Given the description of an element on the screen output the (x, y) to click on. 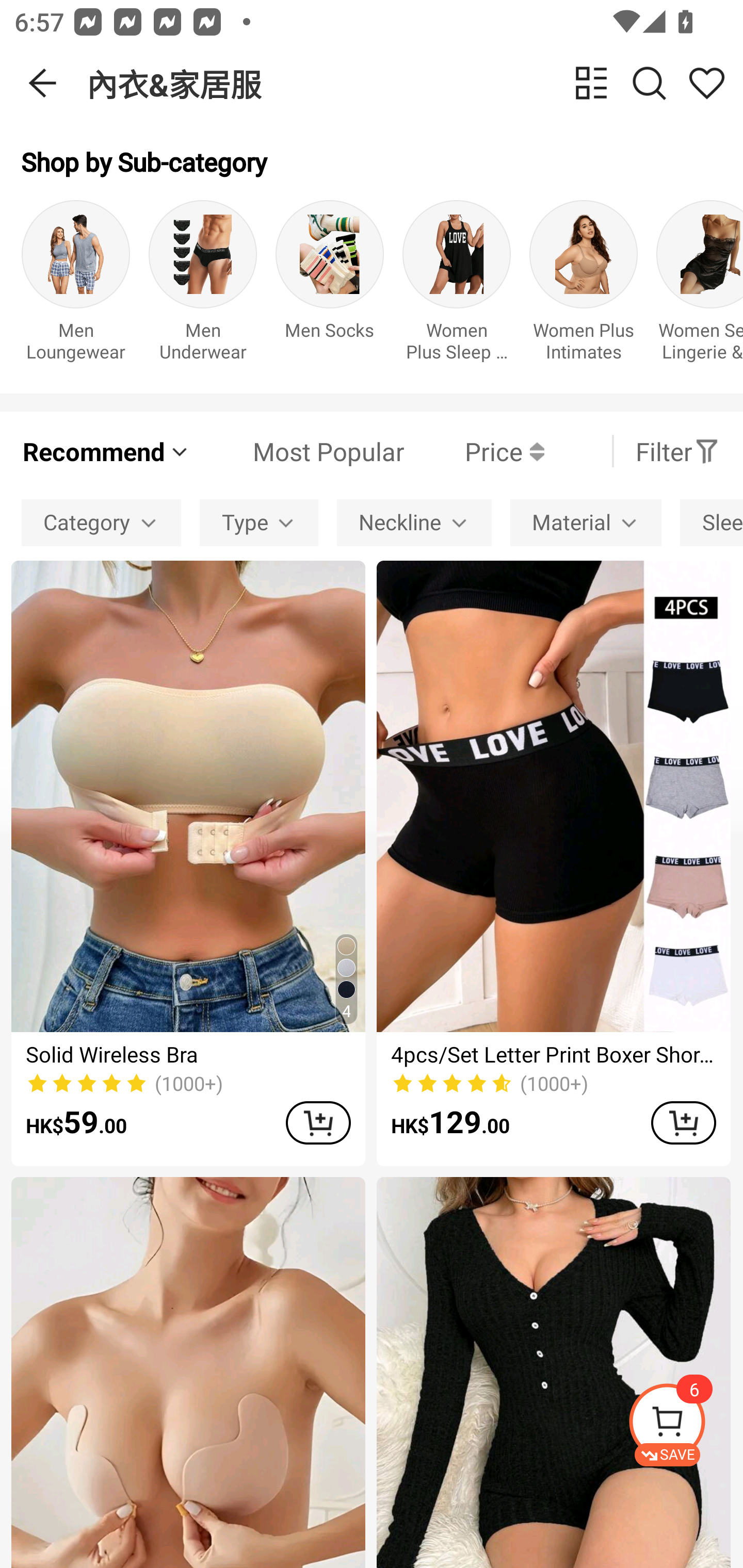
內衣&家居服 change view Search Share (414, 82)
change view (591, 82)
Search (648, 82)
Share (706, 82)
Men Loungewear (75, 285)
Men Underwear (202, 285)
Men Socks (329, 285)
Women Plus Sleep & Lounge (456, 285)
Women Plus Intimates (583, 285)
Women Sexy Lingerie & Costumes (699, 285)
Recommend (106, 450)
Most Popular (297, 450)
Price (474, 450)
Filter (677, 450)
Category (101, 521)
Type (258, 521)
Neckline (413, 521)
Material (585, 521)
ADD TO CART (318, 1122)
ADD TO CART (683, 1122)
Women's Button Front Long Sleeve Romper, Home Wear (553, 1372)
SAVE (685, 1424)
